Given the description of an element on the screen output the (x, y) to click on. 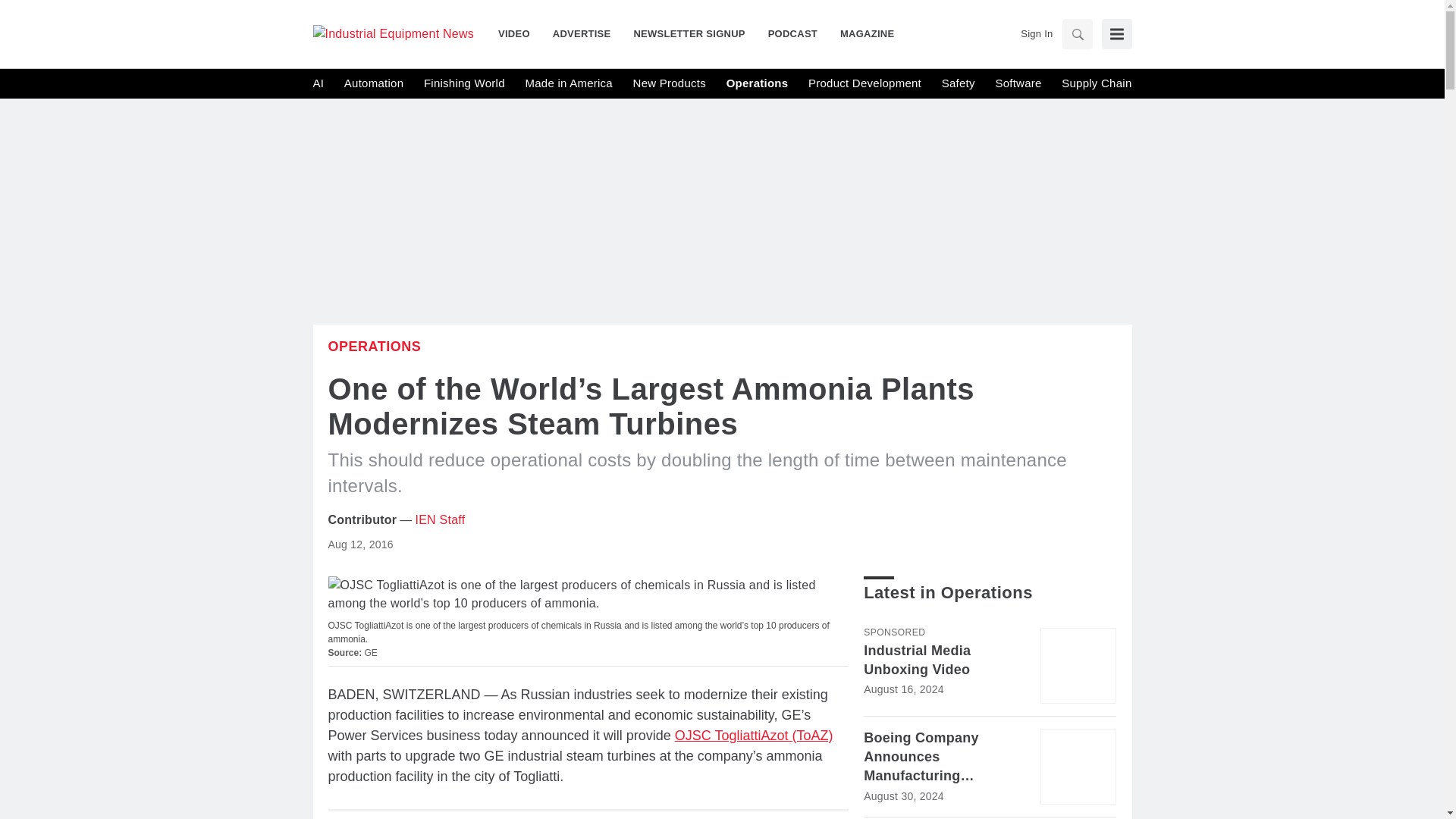
Sponsored (893, 632)
VIDEO (519, 33)
Software (1017, 83)
MAGAZINE (860, 33)
Automation (373, 83)
Operations (373, 346)
PODCAST (792, 33)
Safety (958, 83)
Made in America (567, 83)
Supply Chain (1096, 83)
